Given the description of an element on the screen output the (x, y) to click on. 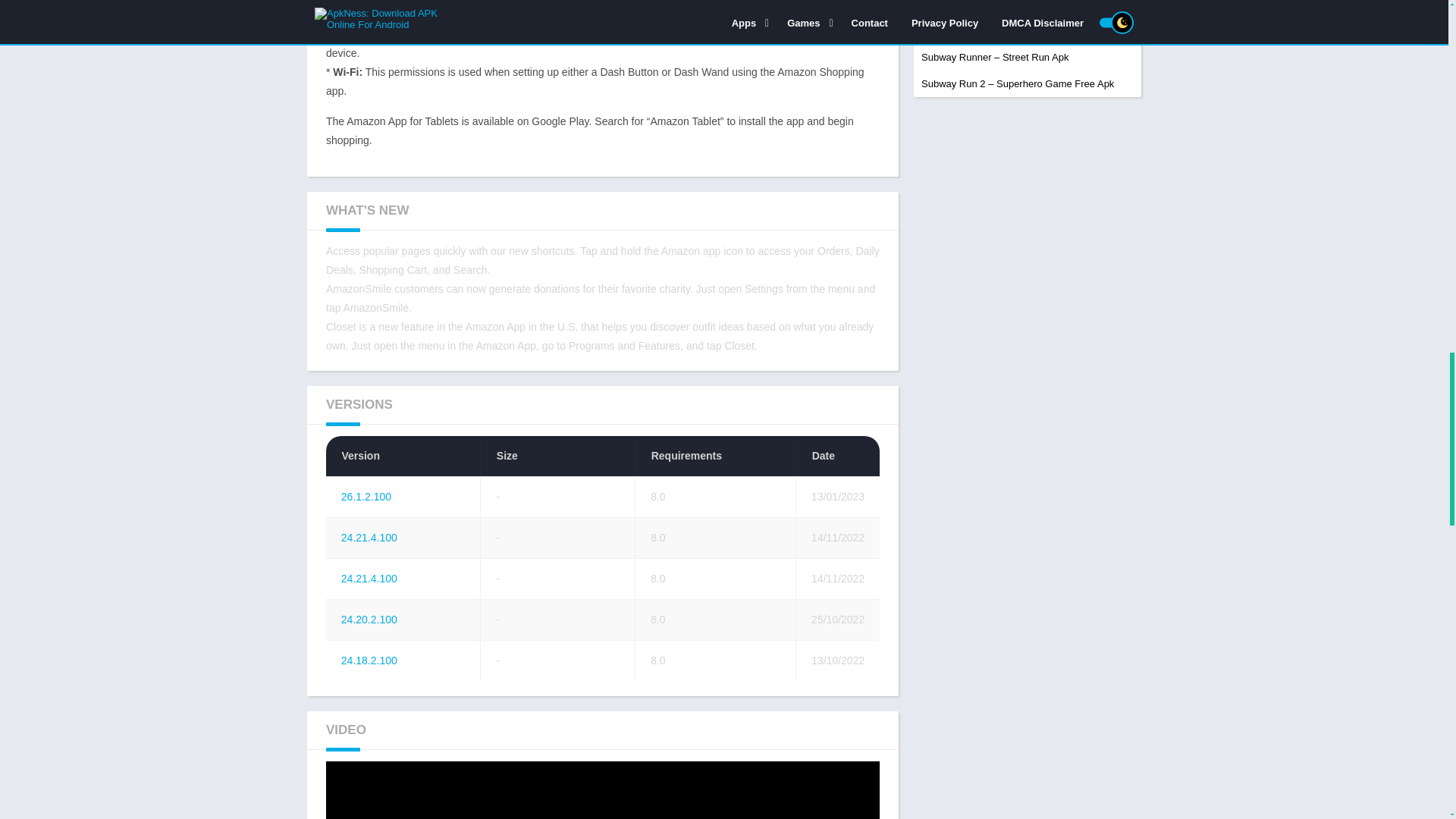
24.20.2.100 (368, 619)
24.21.4.100 (368, 578)
26.1.2.100 (365, 496)
24.21.4.100 (368, 537)
24.18.2.100 (368, 660)
